Given the description of an element on the screen output the (x, y) to click on. 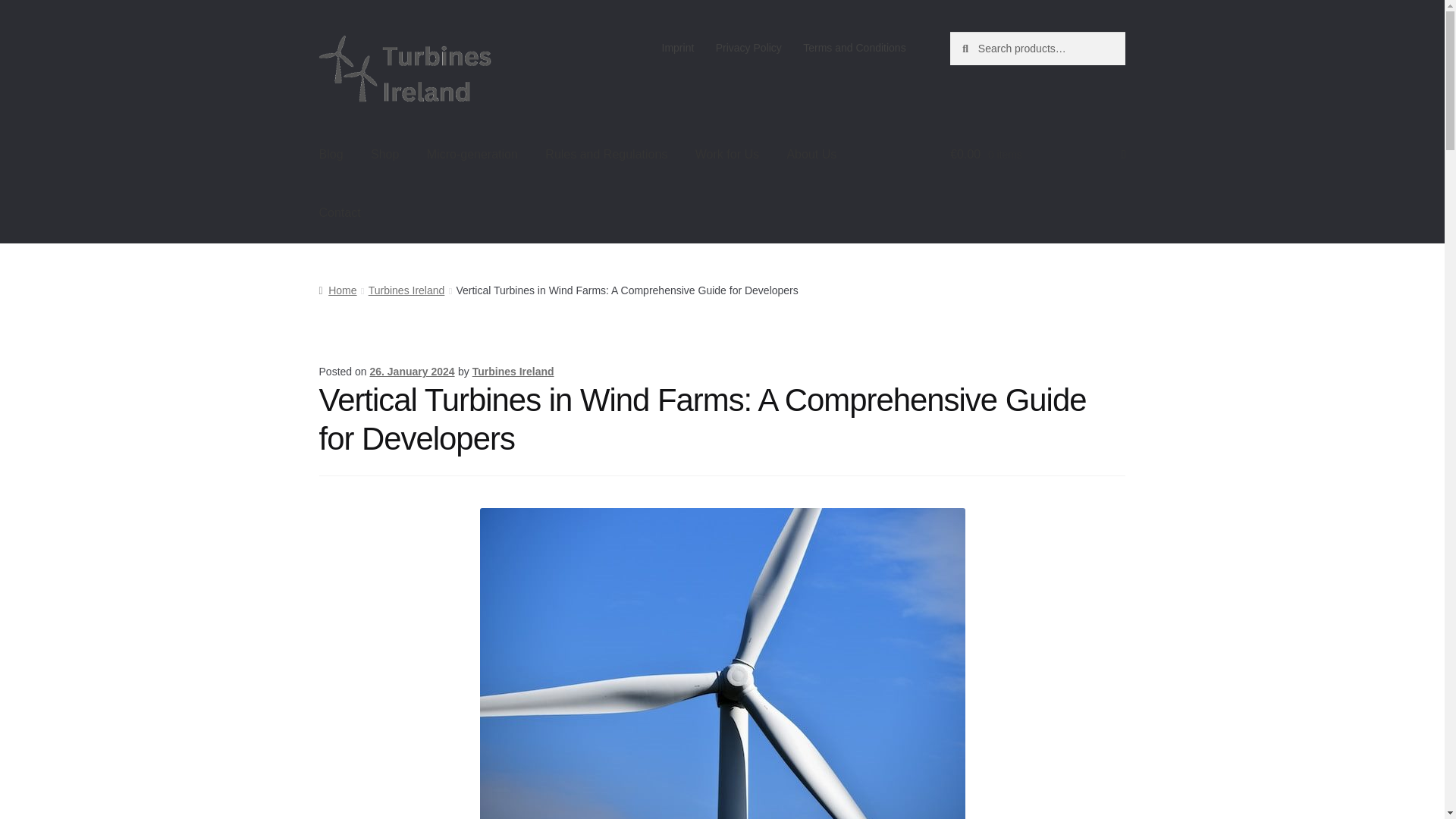
Work for Us (726, 154)
Terms and Conditions (854, 47)
Turbines Ireland (406, 290)
View your shopping cart (1037, 154)
Shop (384, 154)
Blog (331, 154)
Rules and Regulations (605, 154)
Contact (339, 212)
Micro-generation (471, 154)
Home (337, 290)
Imprint (677, 47)
Turbines Ireland (512, 371)
26. January 2024 (411, 371)
About Us (811, 154)
